Given the description of an element on the screen output the (x, y) to click on. 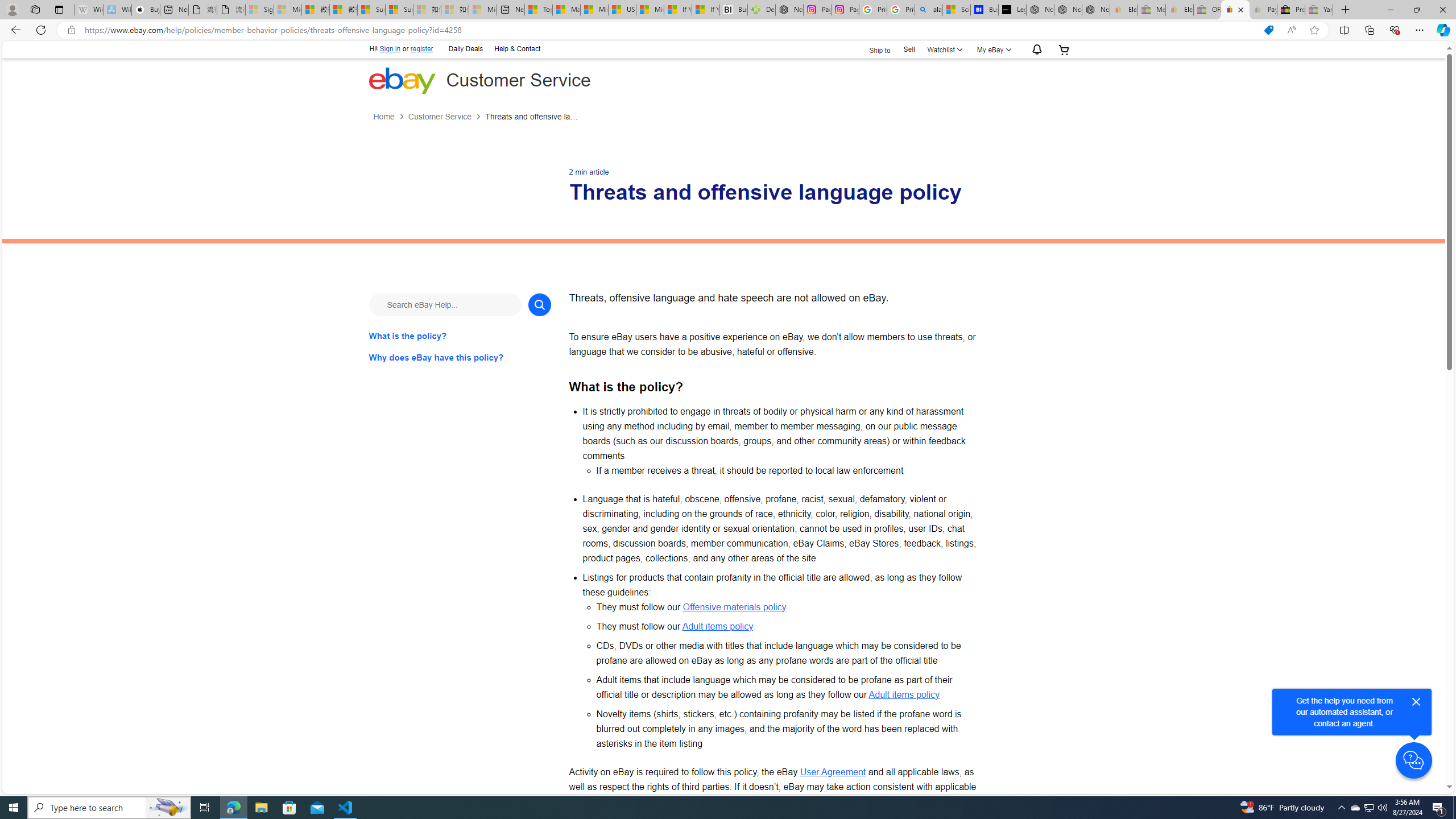
Search eBay Help... (444, 304)
App bar (728, 29)
Ship to (872, 48)
Copilot (Ctrl+Shift+.) (1442, 29)
User Agreement (832, 771)
Read aloud this page (Ctrl+Shift+U) (1291, 29)
Adult items policy (903, 694)
Daily Deals (465, 49)
Descarga Driver Updater (761, 9)
Browser essentials (1394, 29)
